Given the description of an element on the screen output the (x, y) to click on. 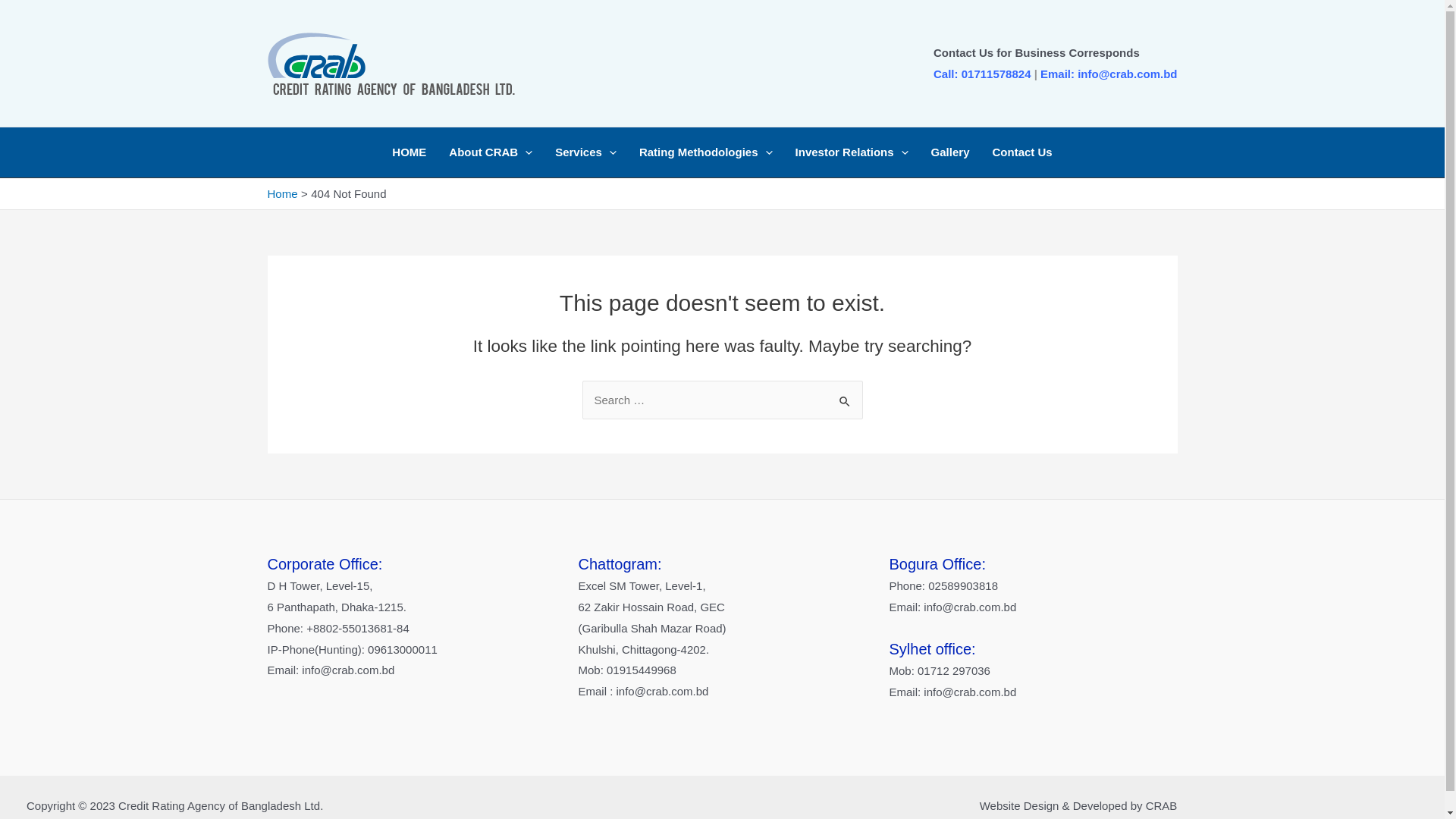
Home Element type: text (281, 193)
Contact Us Element type: text (1021, 152)
Rating Methodologies Element type: text (705, 152)
Investor Relations Element type: text (851, 152)
Services Element type: text (585, 152)
HOME Element type: text (408, 152)
Gallery Element type: text (950, 152)
About CRAB Element type: text (490, 152)
Search Element type: text (845, 395)
